Given the description of an element on the screen output the (x, y) to click on. 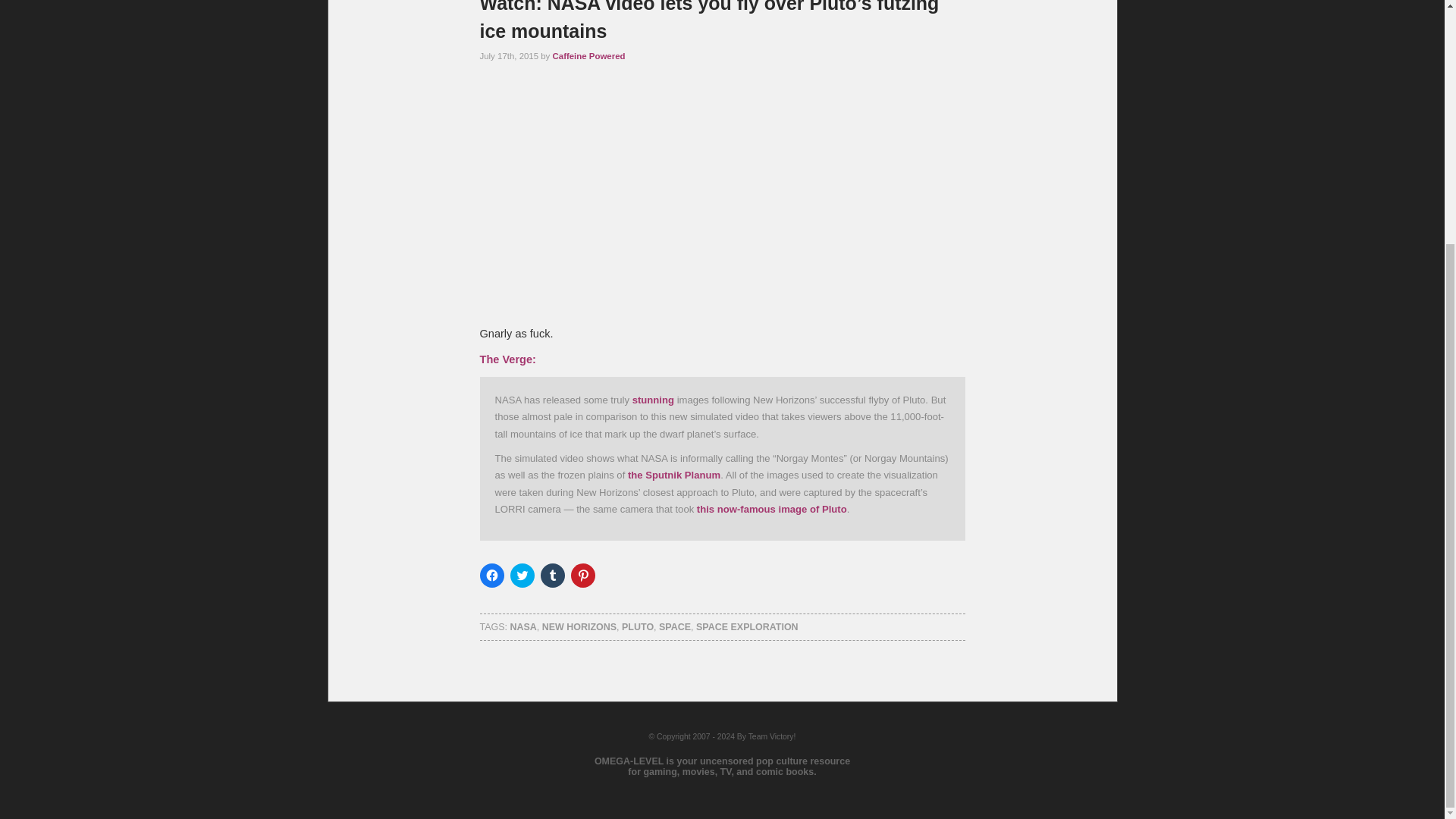
Click to share on Tumblr (552, 575)
Click to share on Pinterest (582, 575)
NEW HORIZONS (578, 626)
SPACE (674, 626)
the Sputnik Planum (673, 474)
Click to share on Facebook (491, 575)
SPACE EXPLORATION (746, 626)
NASA (522, 626)
Click to share on Twitter (521, 575)
The Verge: (507, 358)
stunning (652, 399)
PLUTO (637, 626)
this now-famous image of Pluto (772, 509)
